Given the description of an element on the screen output the (x, y) to click on. 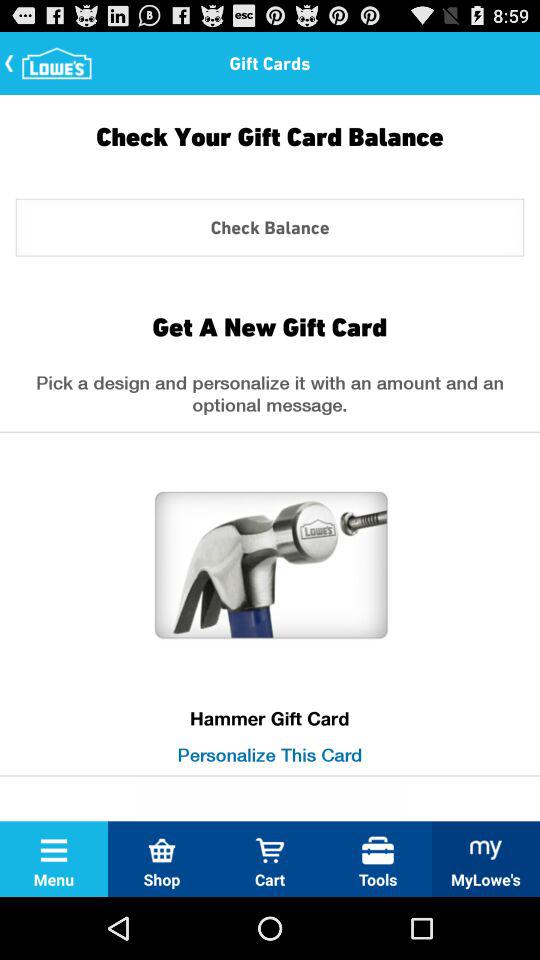
turn on pick a design icon (270, 399)
